Given the description of an element on the screen output the (x, y) to click on. 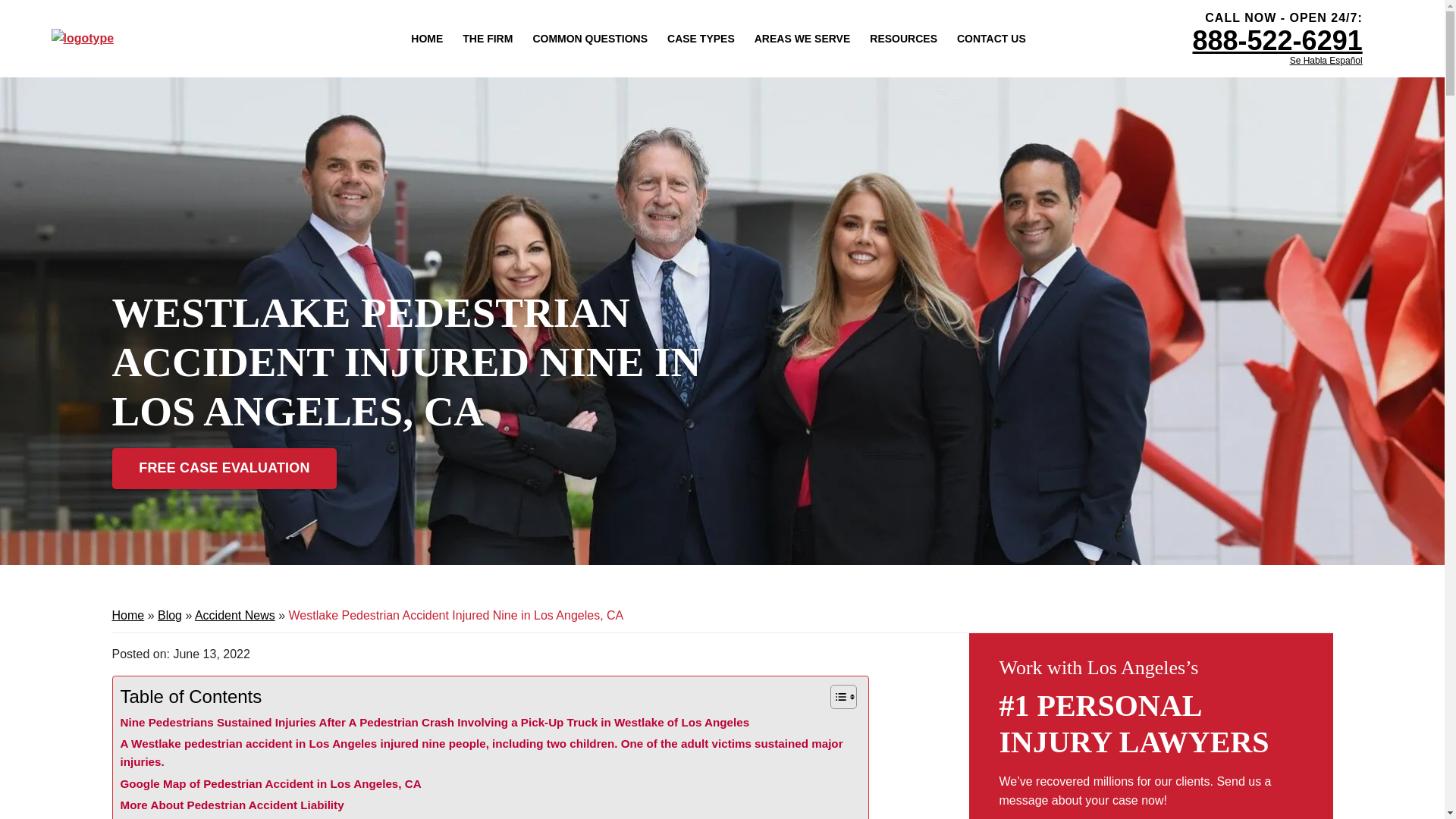
CASE TYPES (701, 38)
AREAS WE SERVE (802, 38)
CONTACT US (991, 38)
COMMON QUESTIONS (589, 38)
HOME (426, 38)
THE FIRM (486, 38)
RESOURCES (903, 38)
FREE CASE EVALUATION (224, 467)
More About Pedestrian Accident Liability (231, 805)
888-522-6291 (1276, 40)
Google Map of Pedestrian Accident in Los Angeles, CA (269, 783)
